Given the description of an element on the screen output the (x, y) to click on. 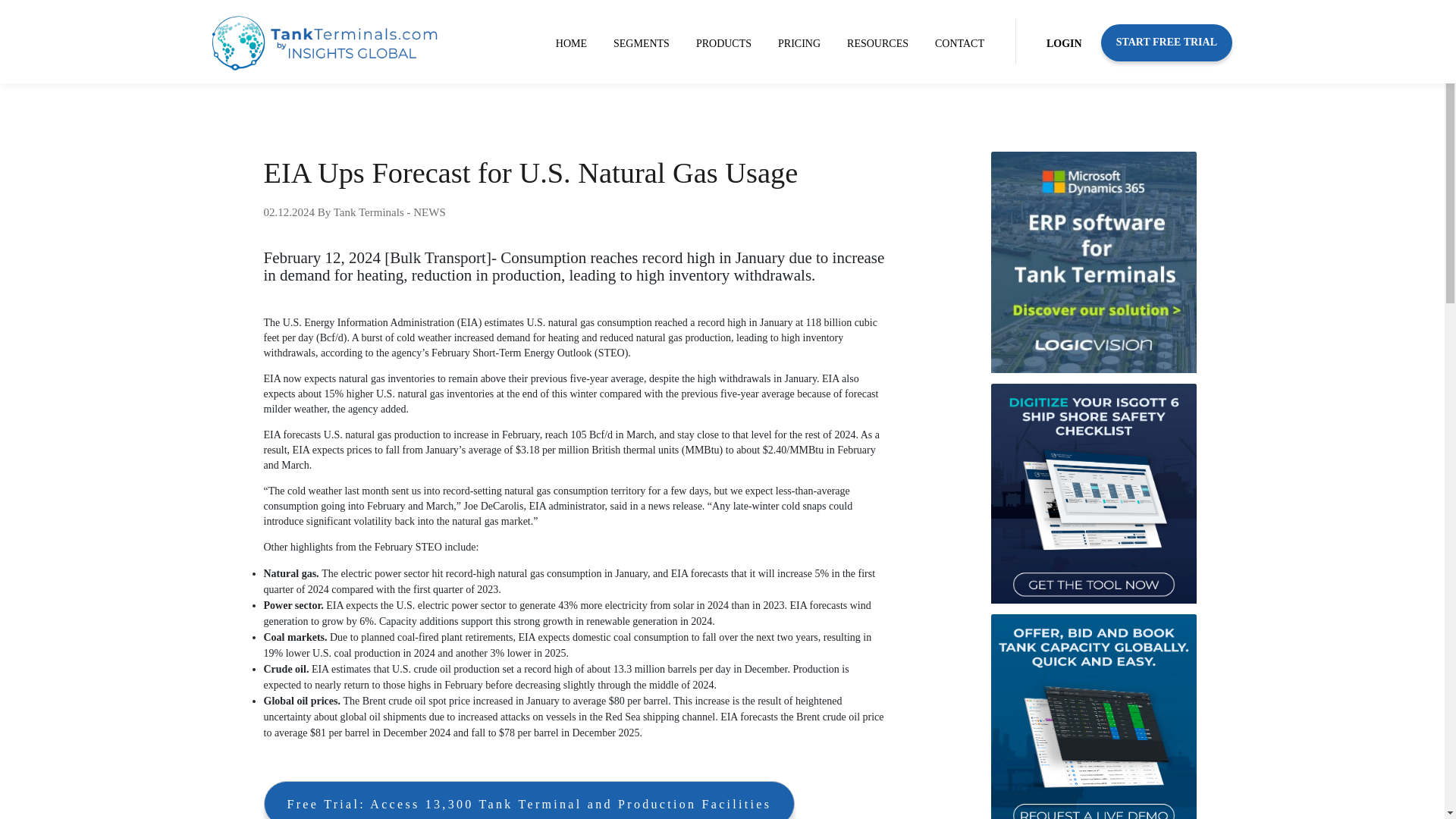
RESOURCES (877, 43)
SEGMENTS (641, 43)
LOGIN (1064, 43)
PRODUCTS (723, 43)
HOME (571, 43)
CONTACT (959, 43)
PRICING (799, 43)
START FREE TRIAL (1165, 42)
